Given the description of an element on the screen output the (x, y) to click on. 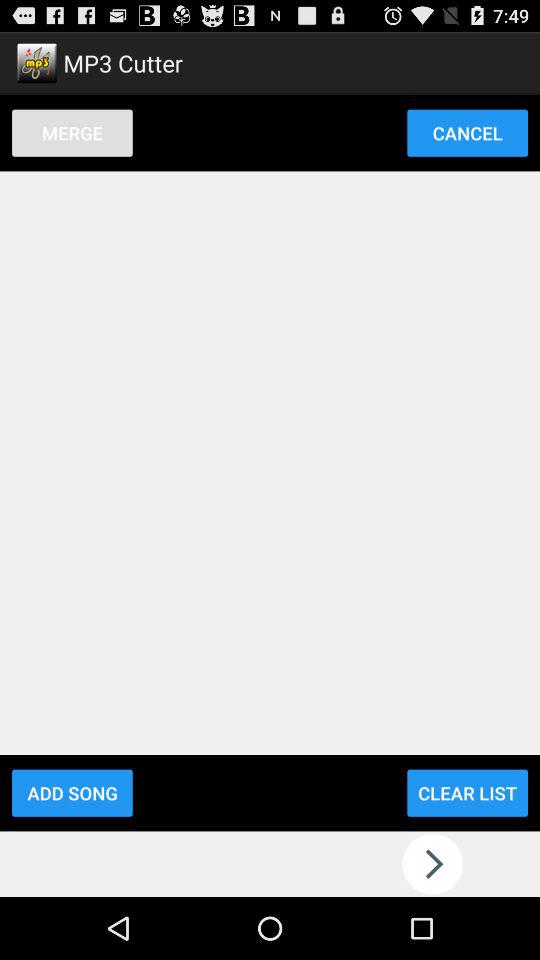
click add song icon (72, 792)
